Given the description of an element on the screen output the (x, y) to click on. 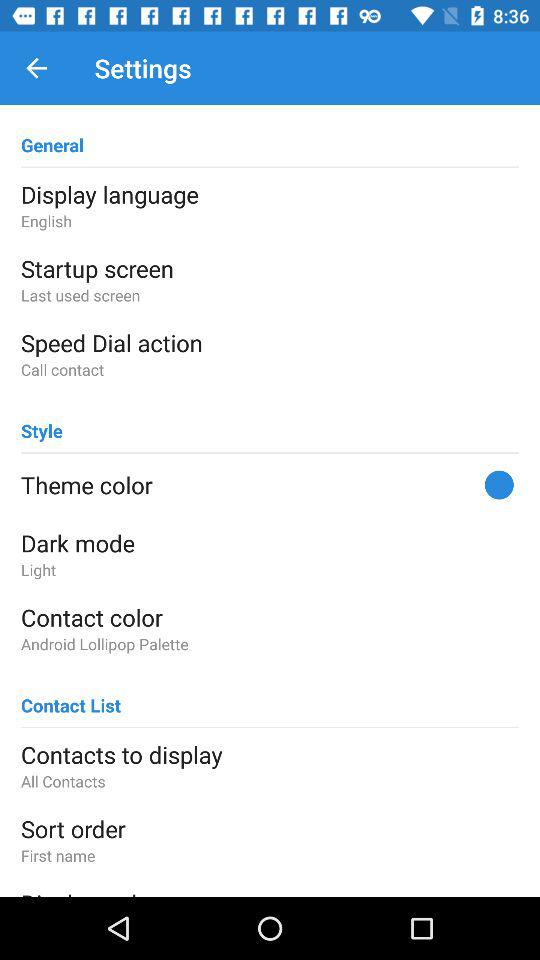
swipe to android lollipop palette item (270, 643)
